Given the description of an element on the screen output the (x, y) to click on. 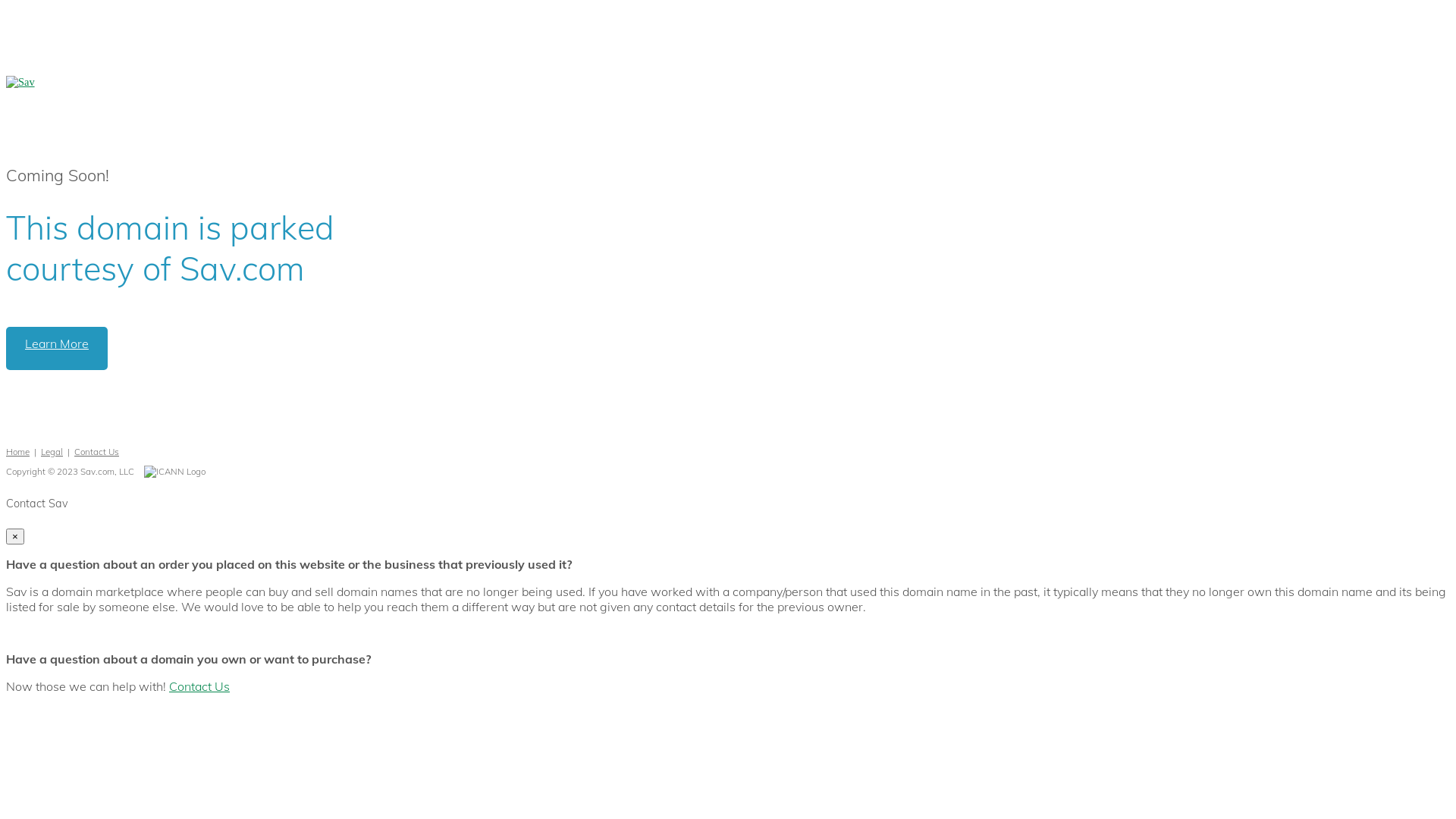
Contact Us Element type: text (96, 451)
Learn More Element type: text (56, 348)
Home Element type: text (17, 451)
Legal Element type: text (51, 451)
Contact Us Element type: text (199, 685)
